Given the description of an element on the screen output the (x, y) to click on. 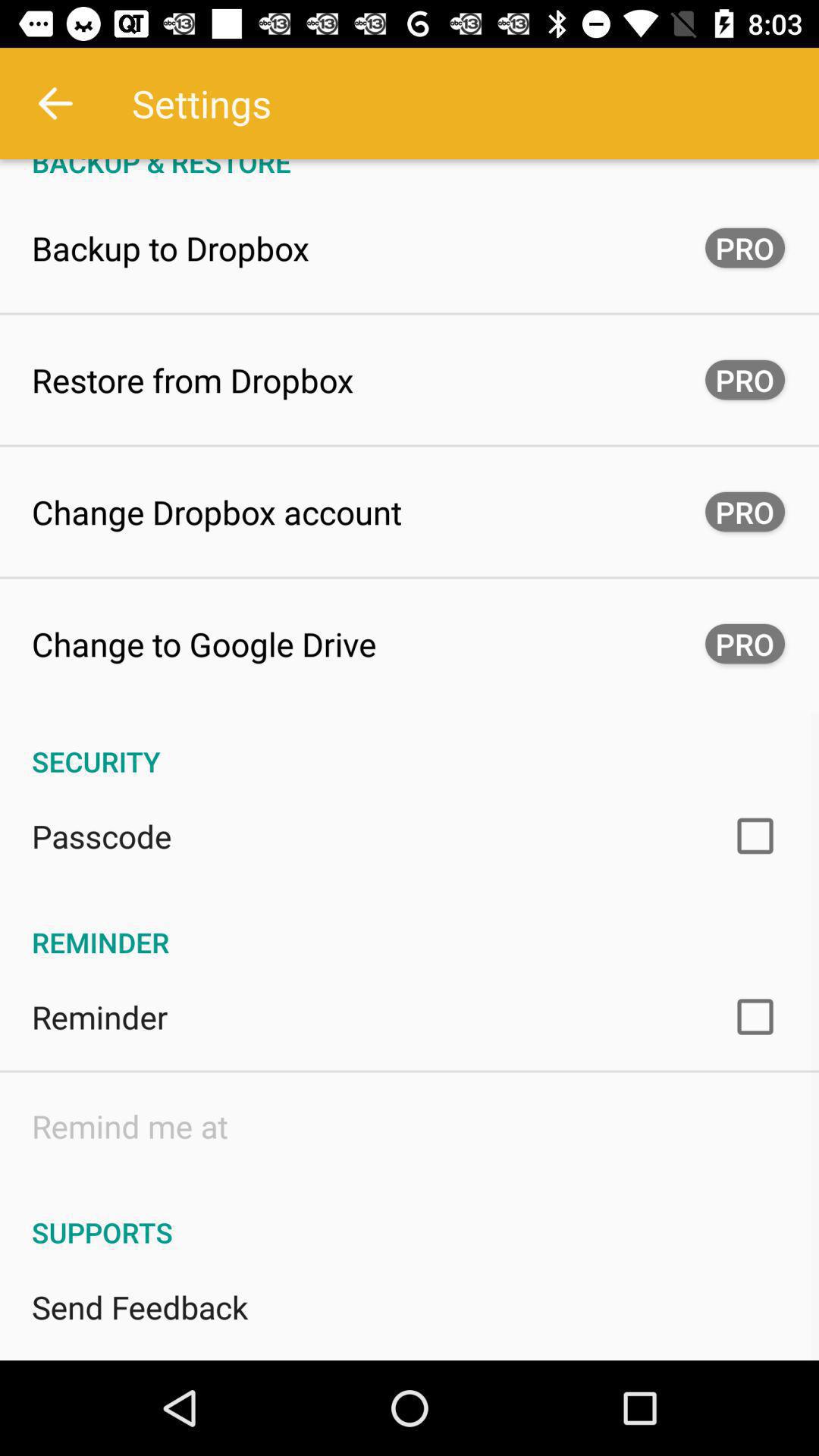
scroll to backup & restore icon (409, 169)
